Given the description of an element on the screen output the (x, y) to click on. 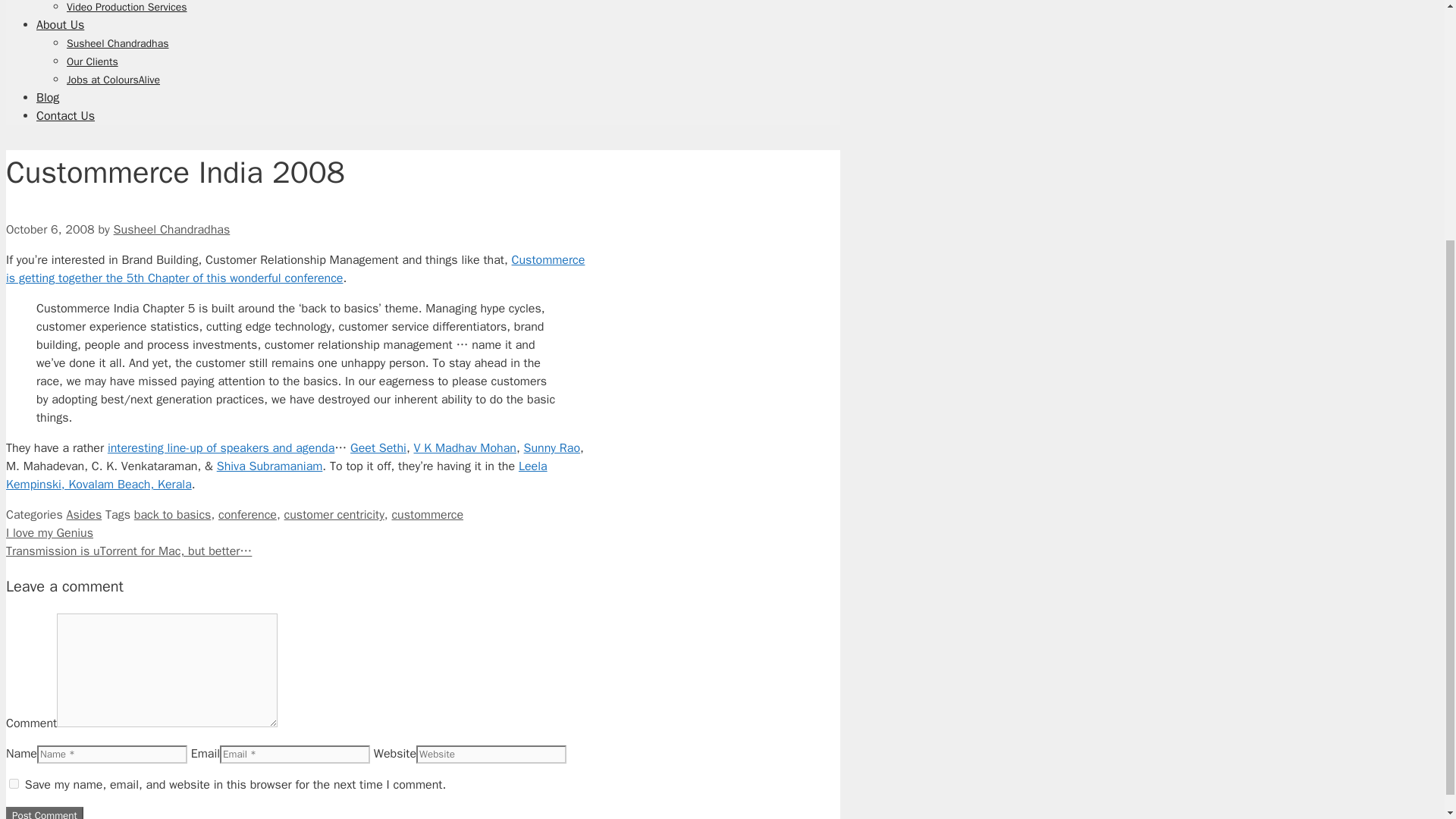
Asides (83, 514)
Susheel Chandradhas (117, 42)
Video Production Services (126, 6)
About Us (60, 24)
Susheel Chandradhas (171, 229)
Sunny Rao (551, 447)
View all posts by Susheel Chandradhas (171, 229)
Jobs at ColoursAlive (113, 79)
Contact Us (65, 115)
Leela Kempinski, Kovalam Beach, Kerala (276, 475)
interesting line-up of speakers and agenda (220, 447)
I love my Genius (49, 532)
Custommerce 2008 Chapter 5 (295, 268)
Blog (47, 97)
